Given the description of an element on the screen output the (x, y) to click on. 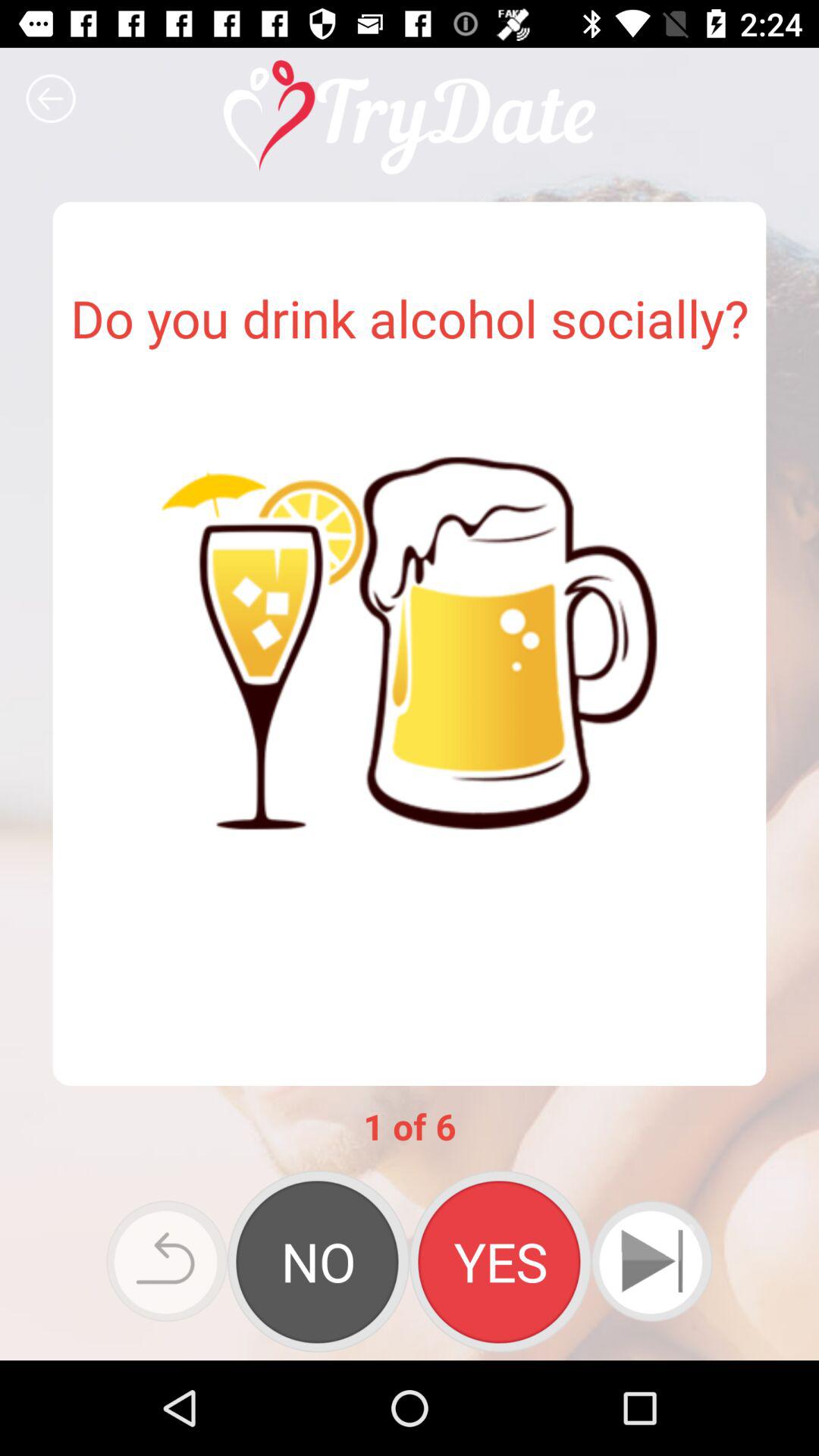
choose the icon below the 1 of 6 app (318, 1261)
